Given the description of an element on the screen output the (x, y) to click on. 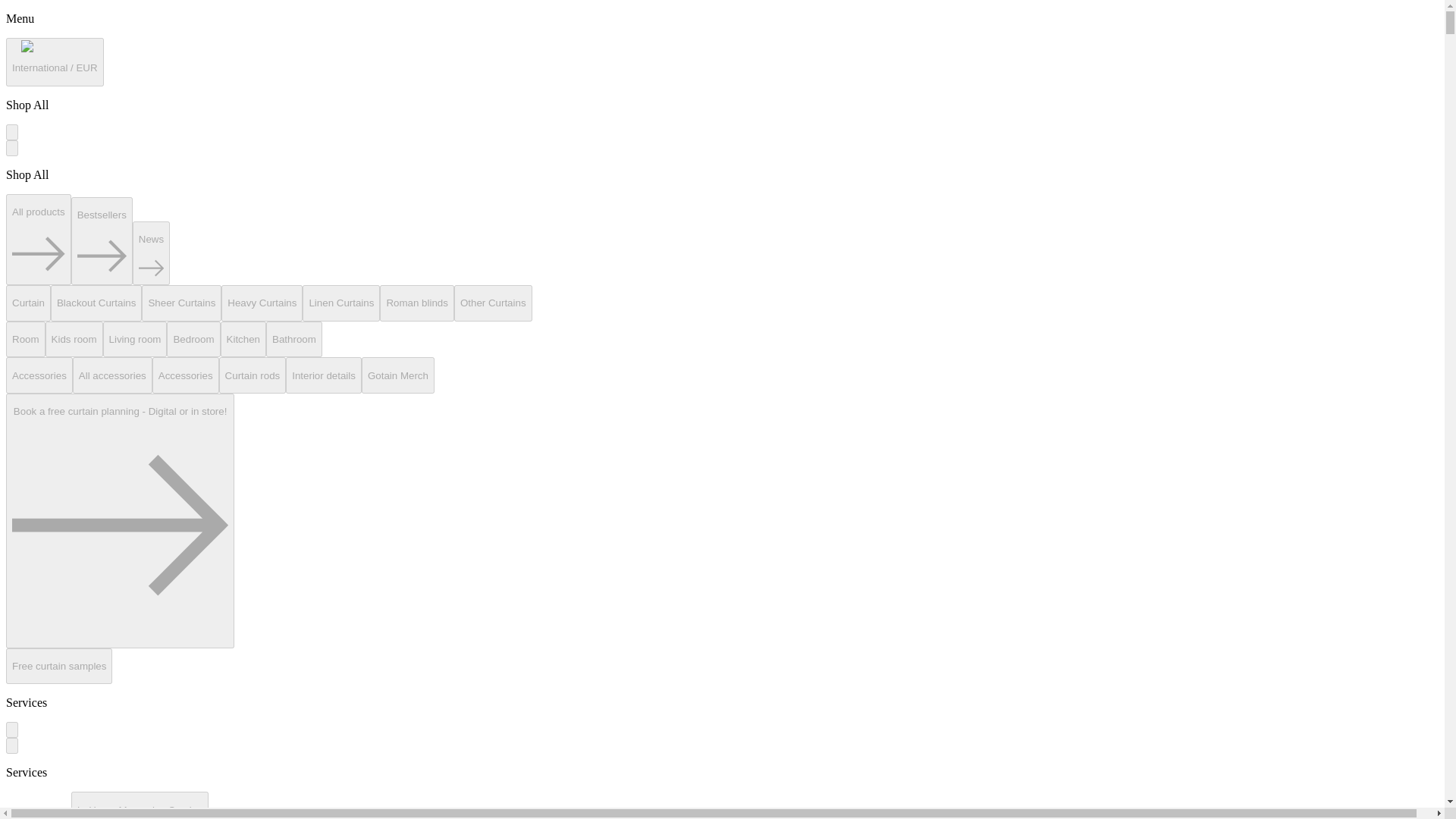
Interior details (323, 375)
Curtain (27, 303)
Sheer Curtains (181, 303)
Other Curtains (493, 303)
Heavy Curtains (261, 303)
All accessories (112, 375)
Curtain rods (252, 375)
Accessories (38, 375)
Linen Curtains (341, 303)
Kids room (74, 339)
